Given the description of an element on the screen output the (x, y) to click on. 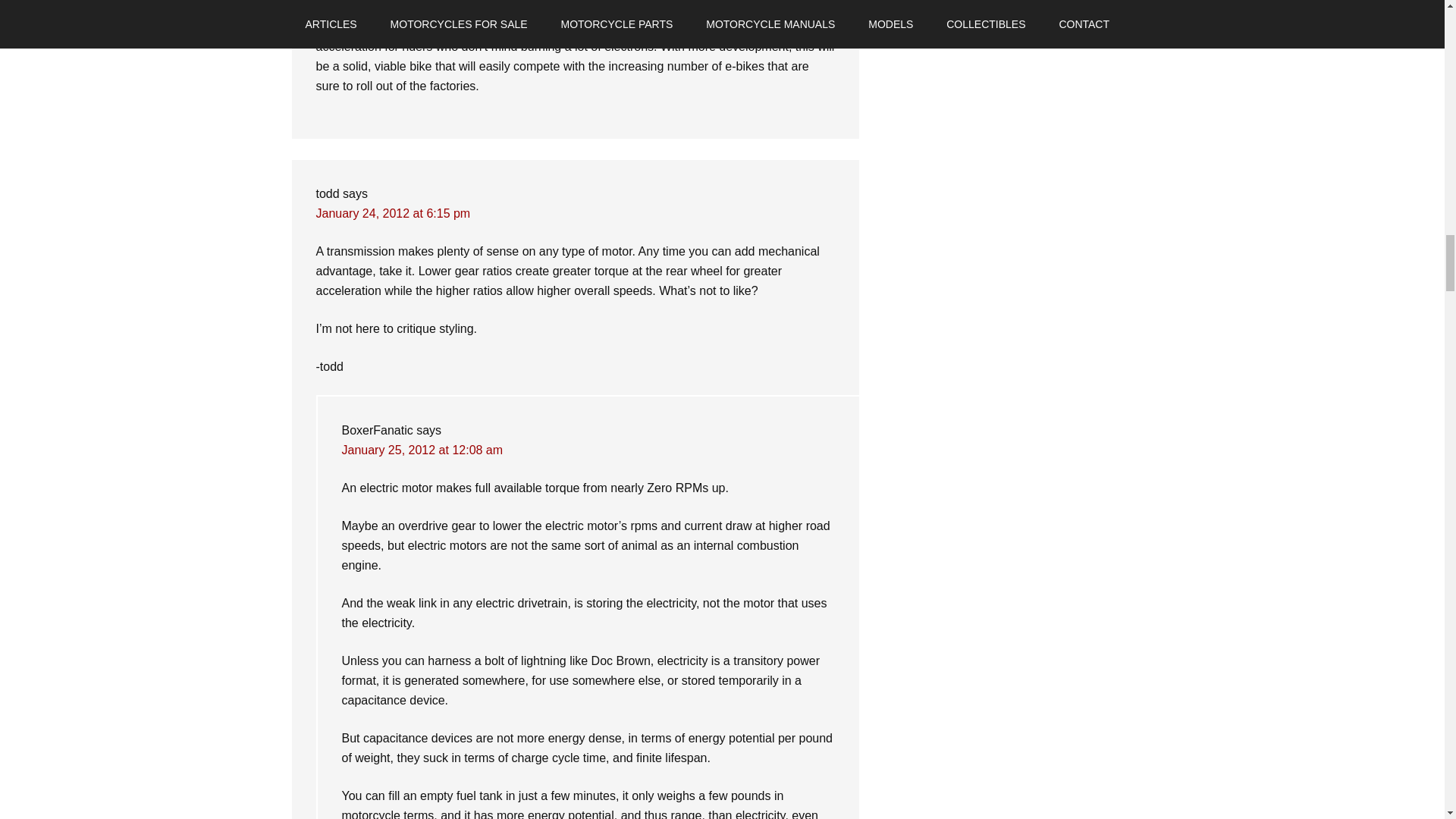
January 24, 2012 at 6:15 pm (392, 213)
January 25, 2012 at 12:08 am (421, 449)
